Given the description of an element on the screen output the (x, y) to click on. 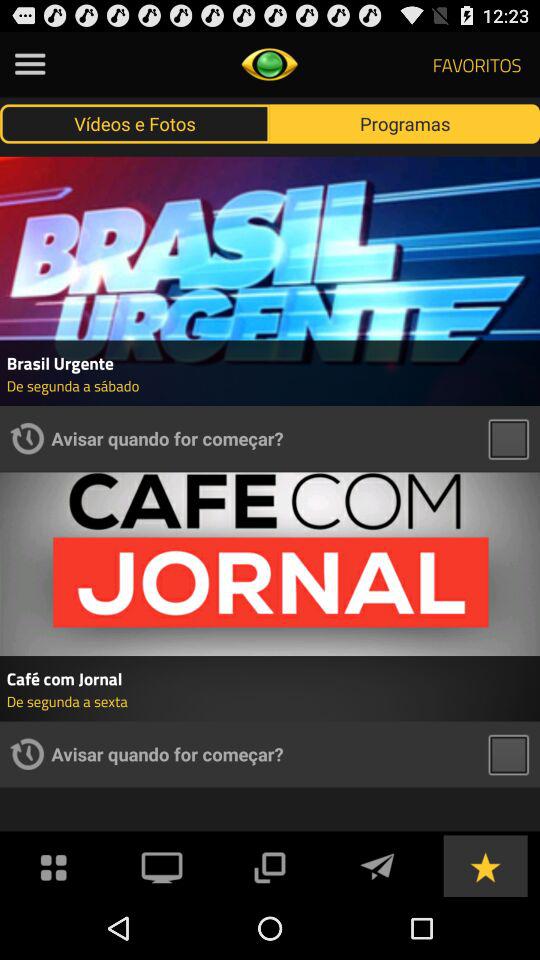
main menu (54, 865)
